Given the description of an element on the screen output the (x, y) to click on. 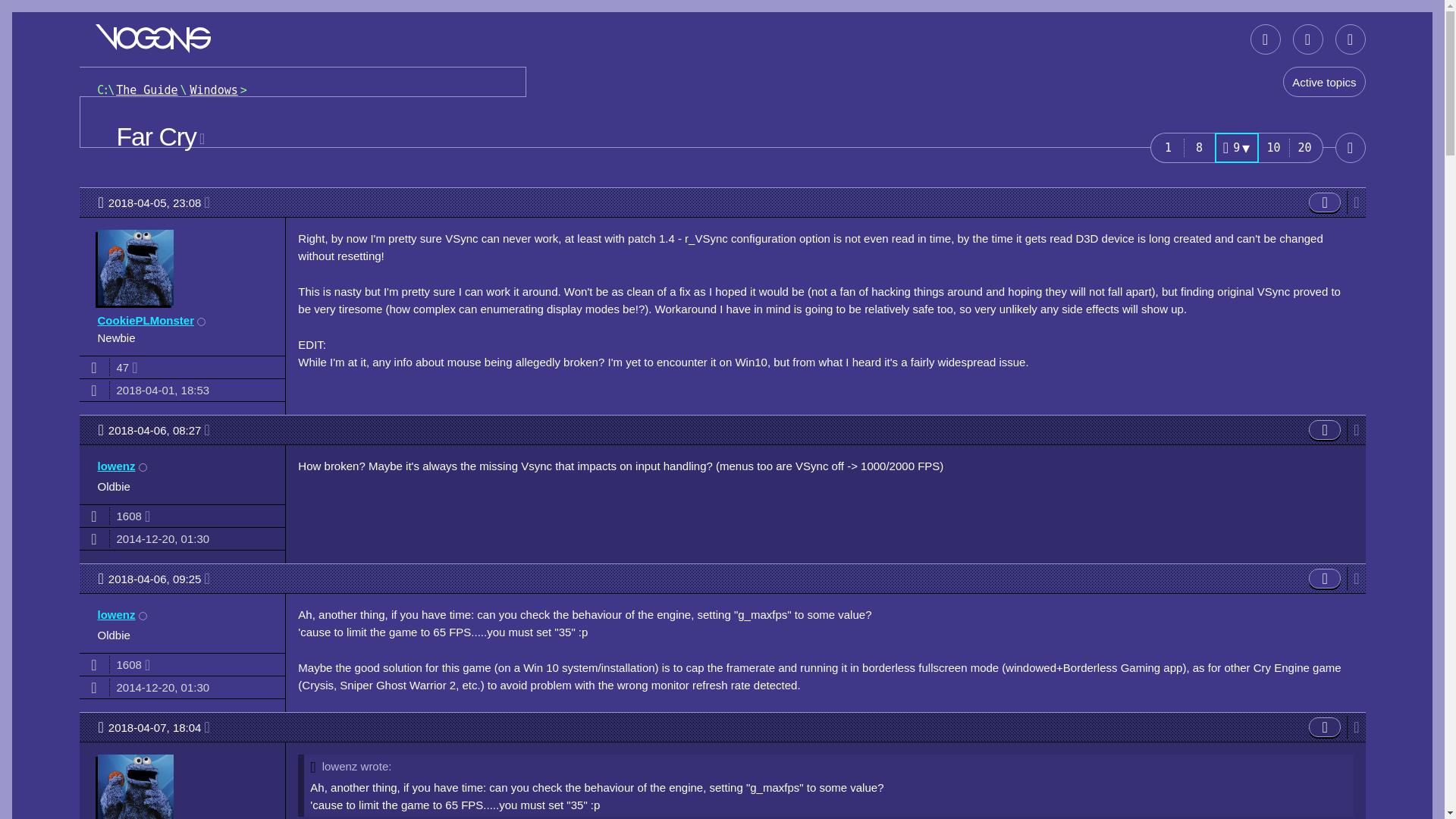
Reply with quote (1305, 147)
CookiePLMonster (159, 429)
Reply with quote (1199, 147)
lowenz (1324, 202)
Far Cry (145, 319)
Advanced search (1324, 202)
1608 (116, 465)
Windows (1166, 147)
47 (165, 136)
Search (159, 202)
